Given the description of an element on the screen output the (x, y) to click on. 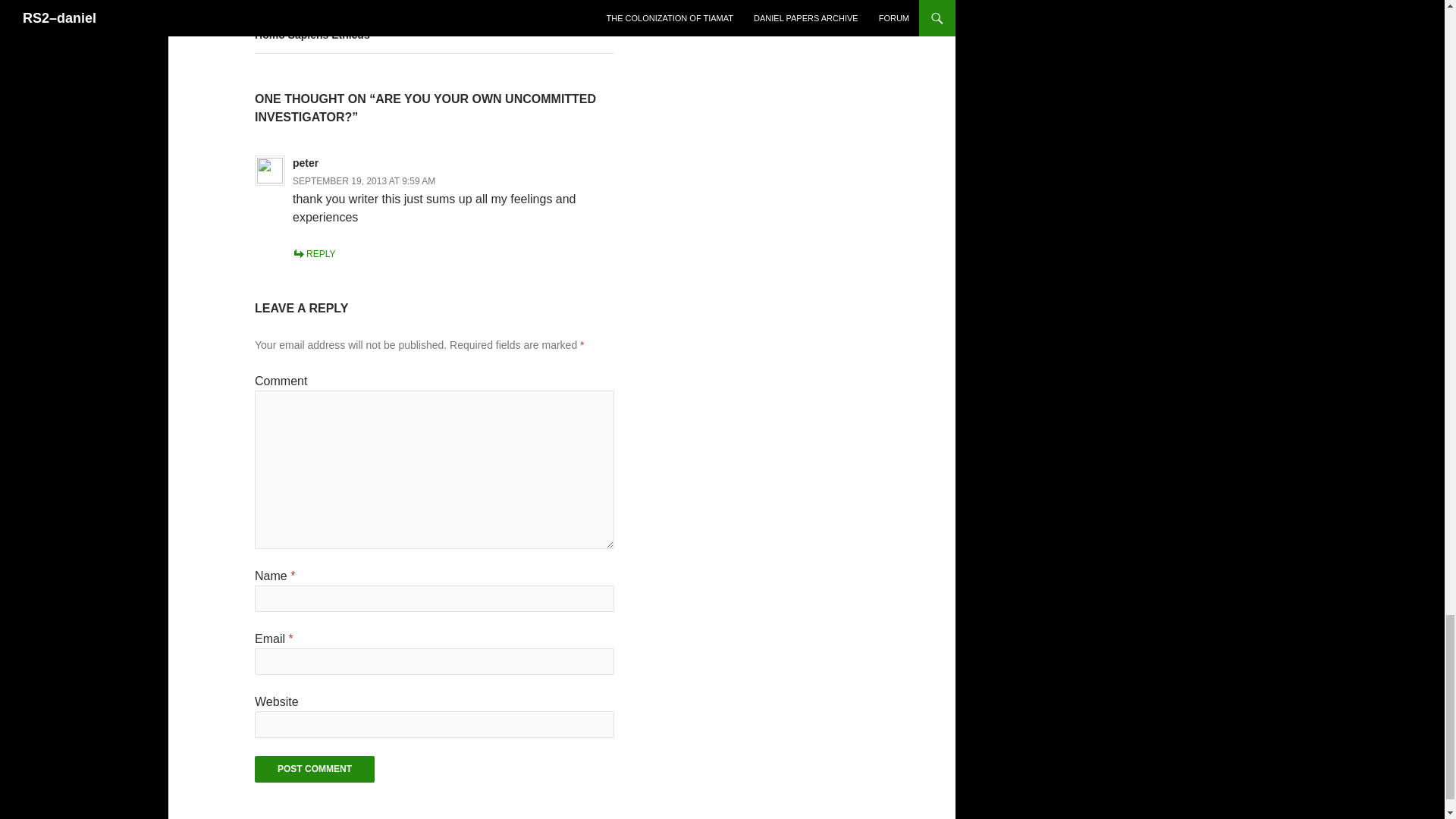
Post Comment (314, 768)
SEPTEMBER 19, 2013 AT 9:59 AM (363, 181)
Post Comment (434, 27)
REPLY (314, 768)
